Given the description of an element on the screen output the (x, y) to click on. 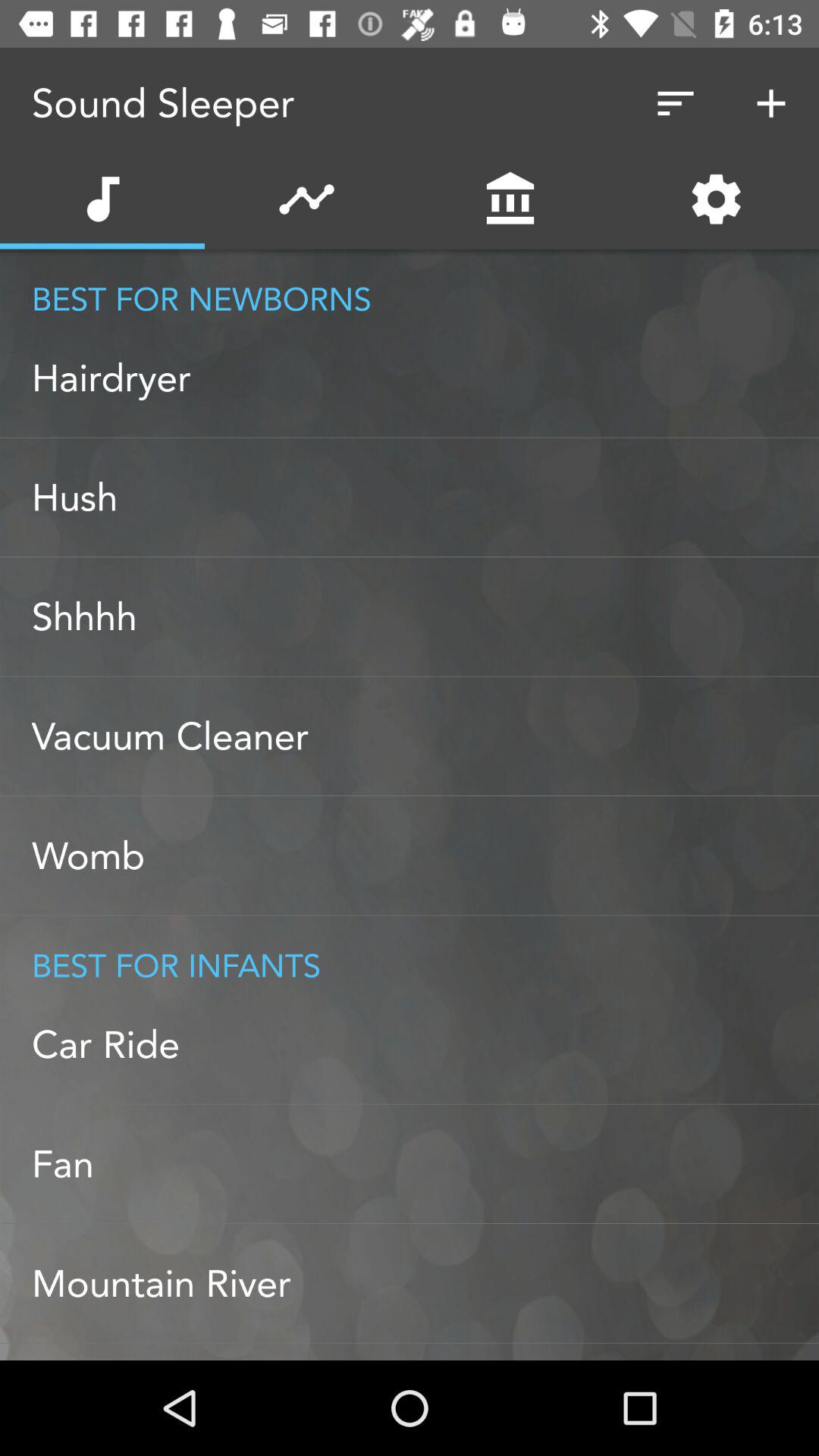
tap item below best for newborns (425, 377)
